Given the description of an element on the screen output the (x, y) to click on. 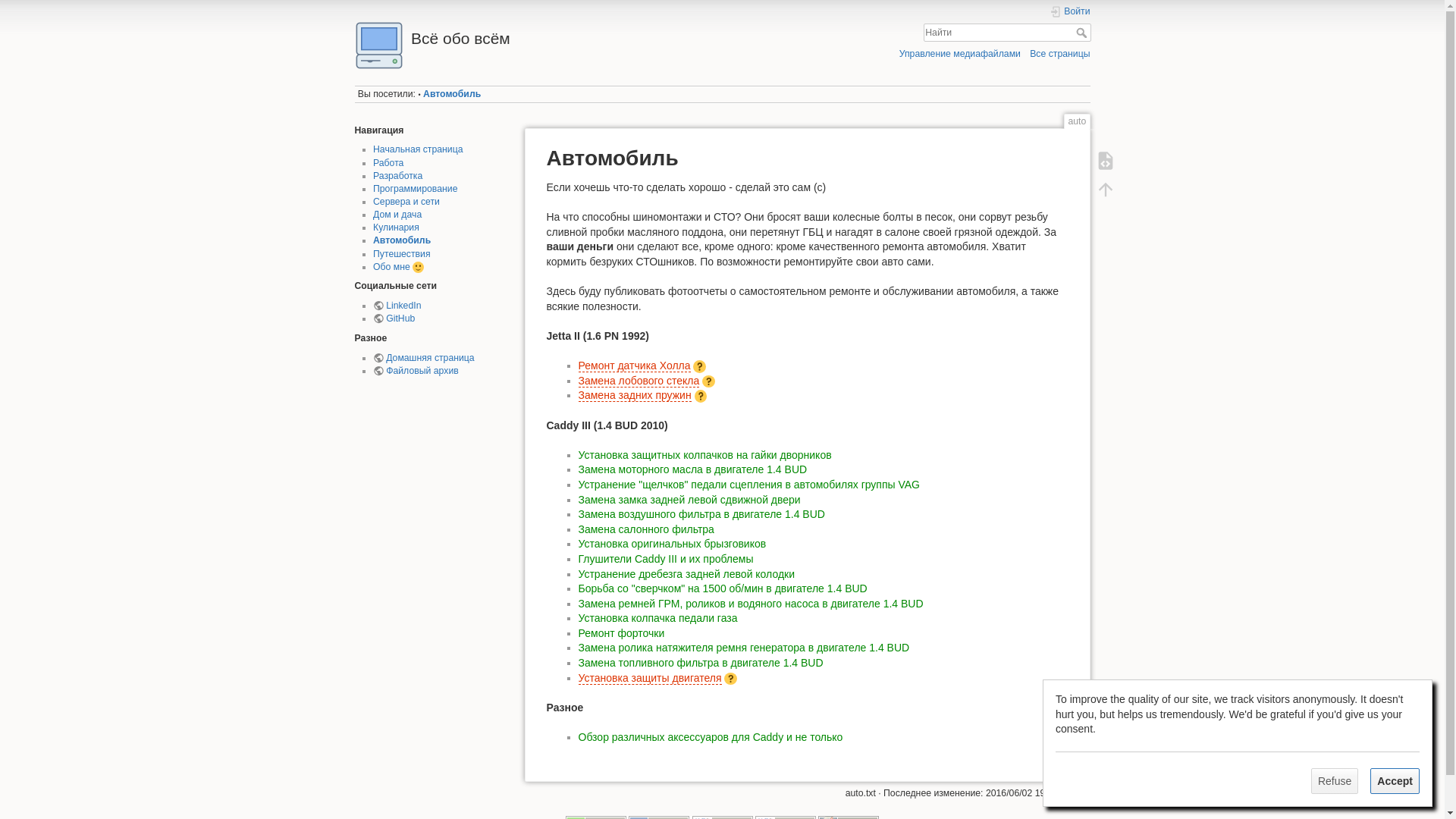
LinkedIn Element type: text (396, 305)
GitHub Element type: text (393, 318)
Refuse Element type: text (1334, 780)
Accept Element type: text (1394, 780)
[F] Element type: hover (1007, 32)
